Given the description of an element on the screen output the (x, y) to click on. 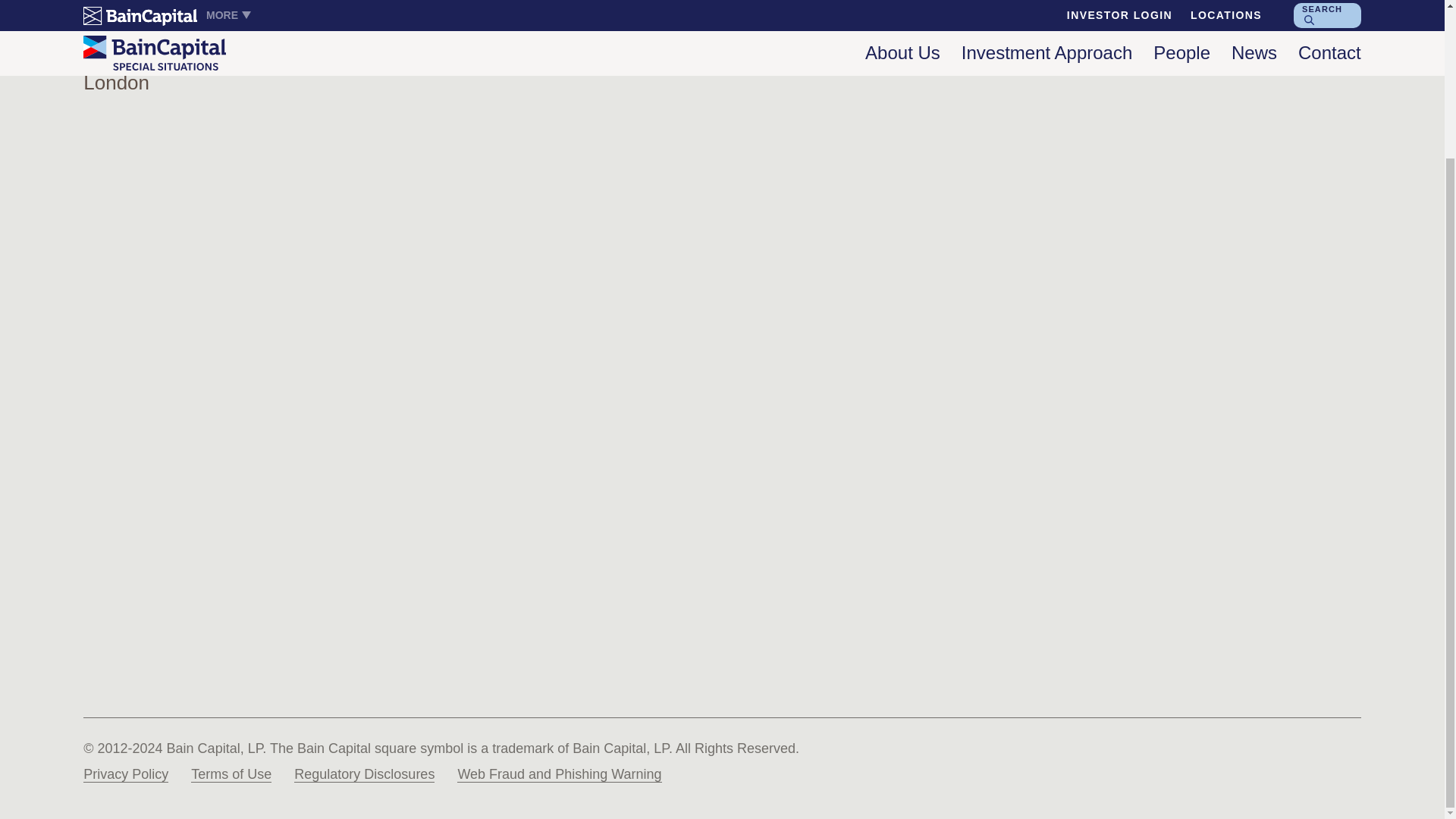
Privacy Policy (125, 774)
Terms of Use (230, 774)
Regulatory Disclosures (363, 774)
Web Fraud and Phishing Warning (559, 774)
